Given the description of an element on the screen output the (x, y) to click on. 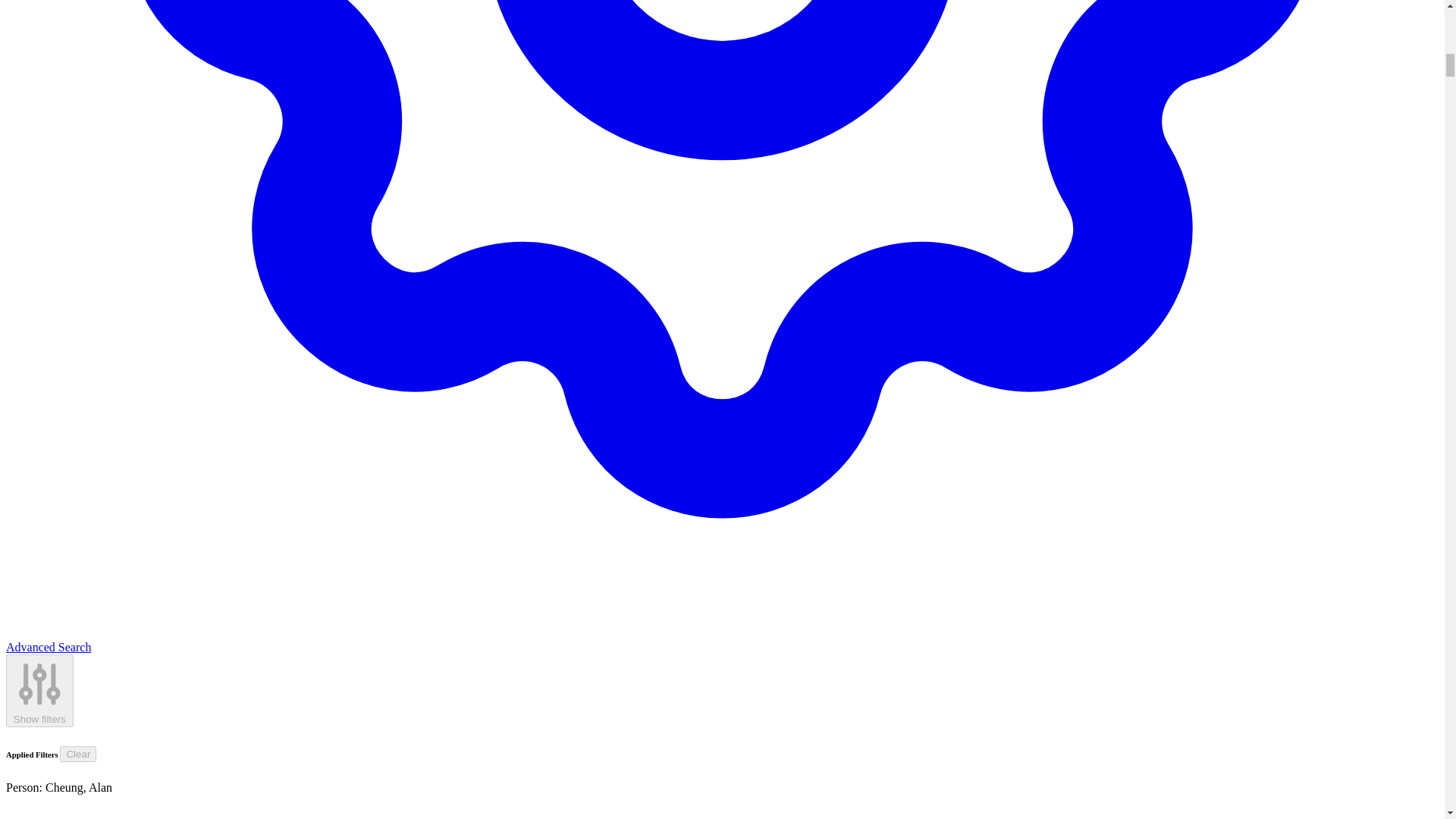
Clear (77, 754)
Show filters (39, 691)
